Given the description of an element on the screen output the (x, y) to click on. 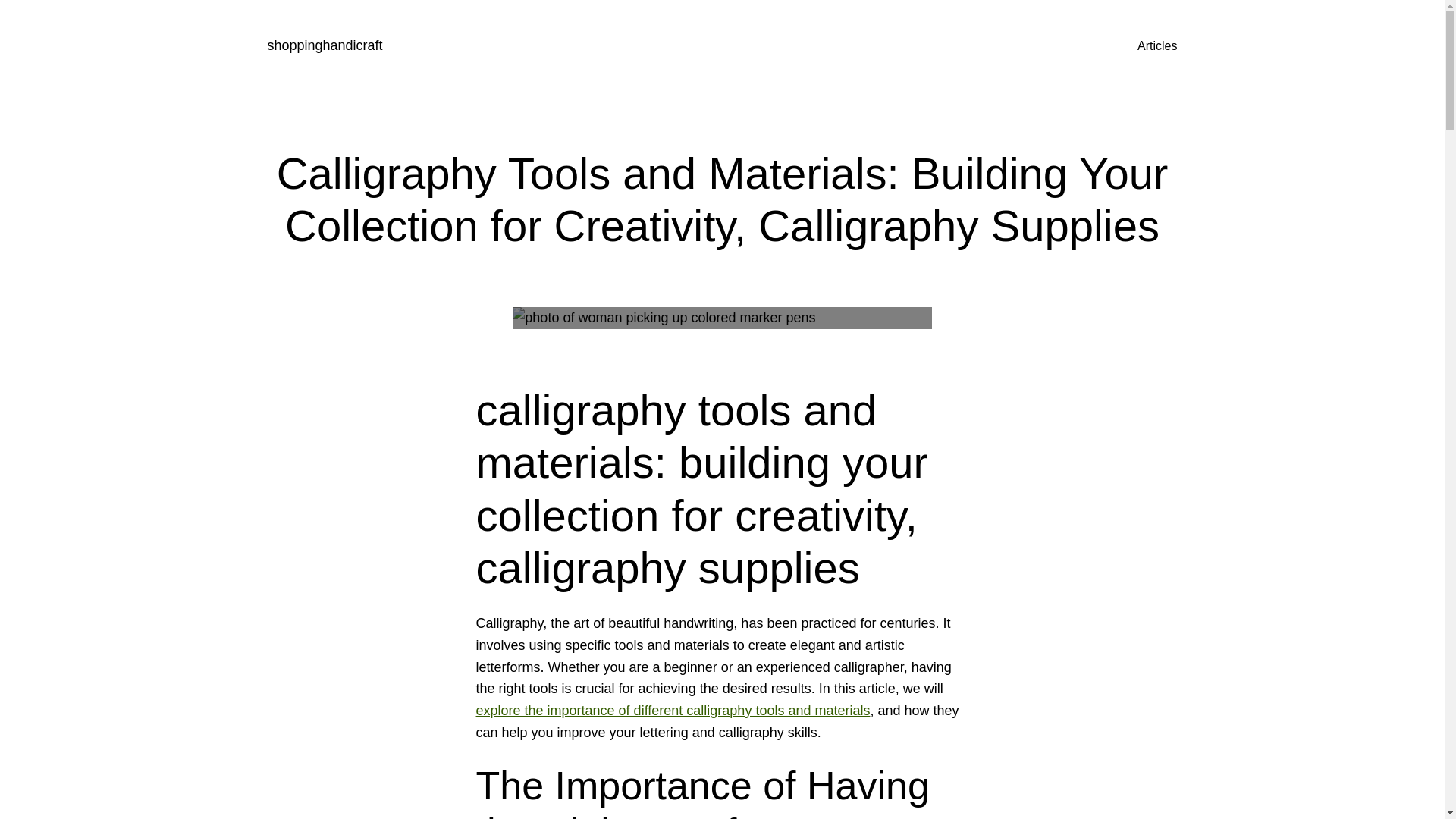
shoppinghandicraft (323, 45)
Articles (1156, 46)
